Given the description of an element on the screen output the (x, y) to click on. 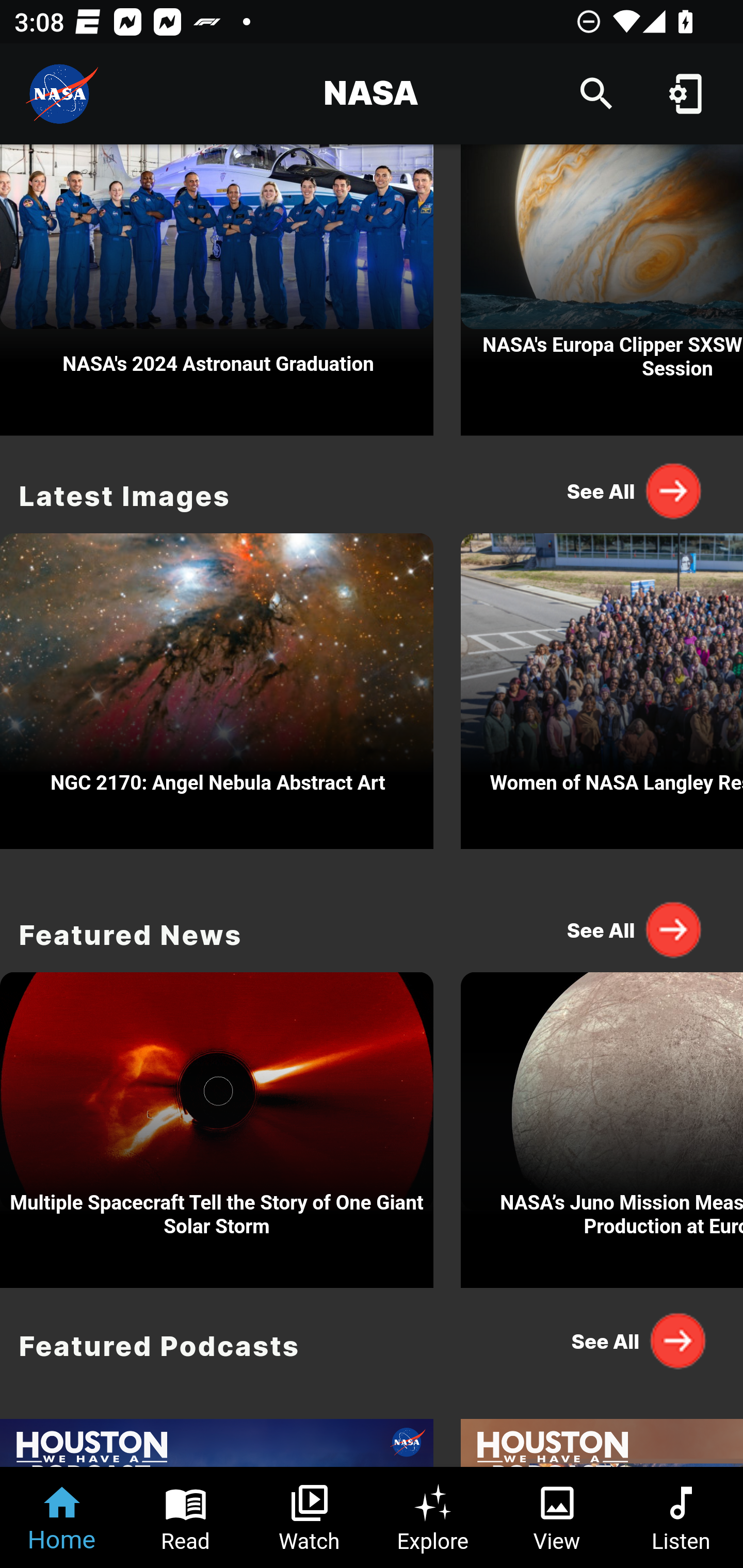
NASA's 2024 Astronaut Graduation (216, 289)
NASA's Europa Clipper SXSW 2024 Opening Session (601, 289)
See All (634, 490)
NGC 2170: Angel Nebula Abstract Art (216, 685)
Women of NASA Langley Research Center (601, 685)
See All (634, 928)
See All (634, 1340)
Home
Tab 1 of 6 (62, 1517)
Read
Tab 2 of 6 (185, 1517)
Watch
Tab 3 of 6 (309, 1517)
Explore
Tab 4 of 6 (433, 1517)
View
Tab 5 of 6 (556, 1517)
Listen
Tab 6 of 6 (680, 1517)
